Given the description of an element on the screen output the (x, y) to click on. 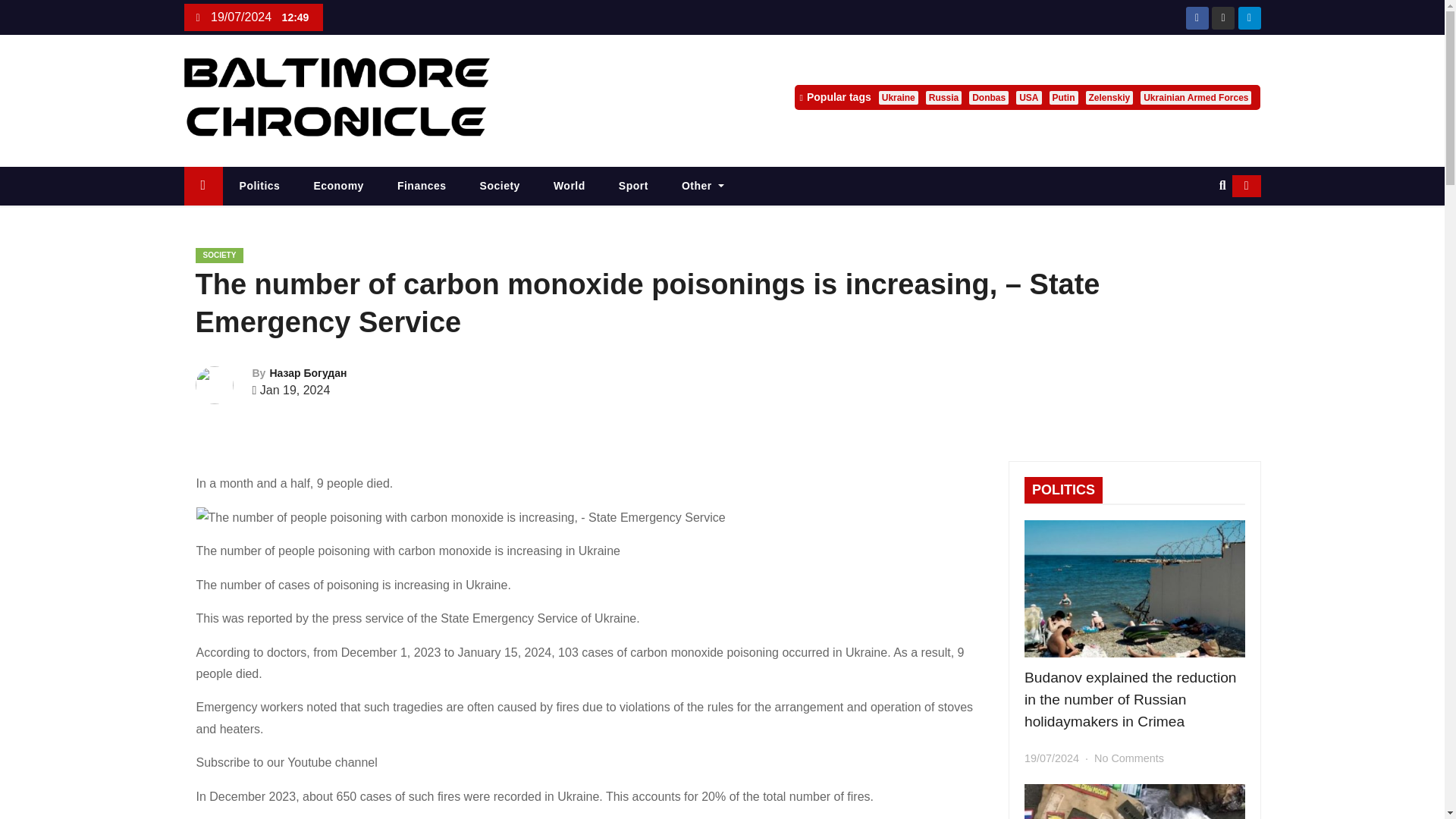
Society (500, 186)
Economy (338, 186)
Other (703, 186)
Society (500, 186)
Sport (633, 186)
Ukraine (898, 97)
Home (202, 186)
Sport (633, 186)
SOCIETY (219, 255)
Putin (1063, 97)
Politics (259, 186)
Other (703, 186)
World (569, 186)
Economy (338, 186)
Politics (259, 186)
